Given the description of an element on the screen output the (x, y) to click on. 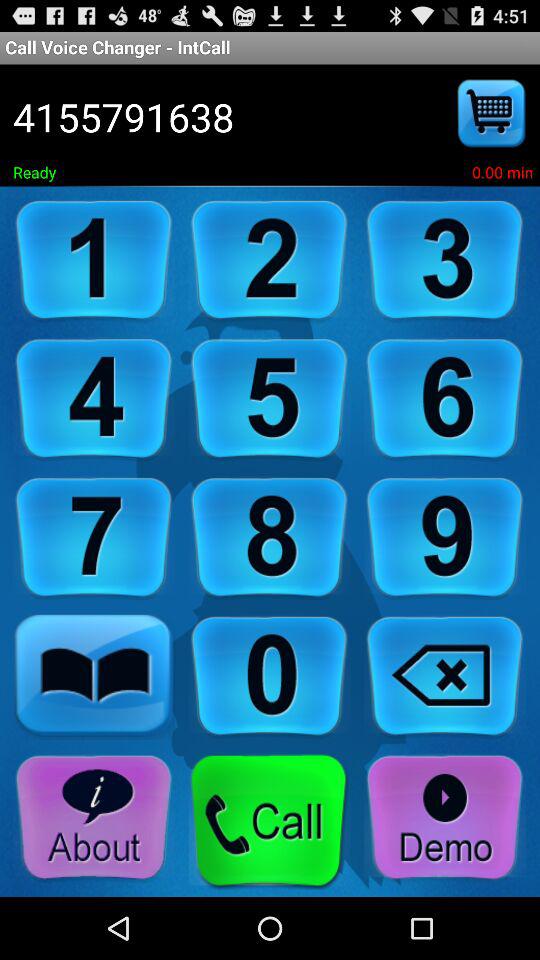
number 5 button (269, 399)
